Given the description of an element on the screen output the (x, y) to click on. 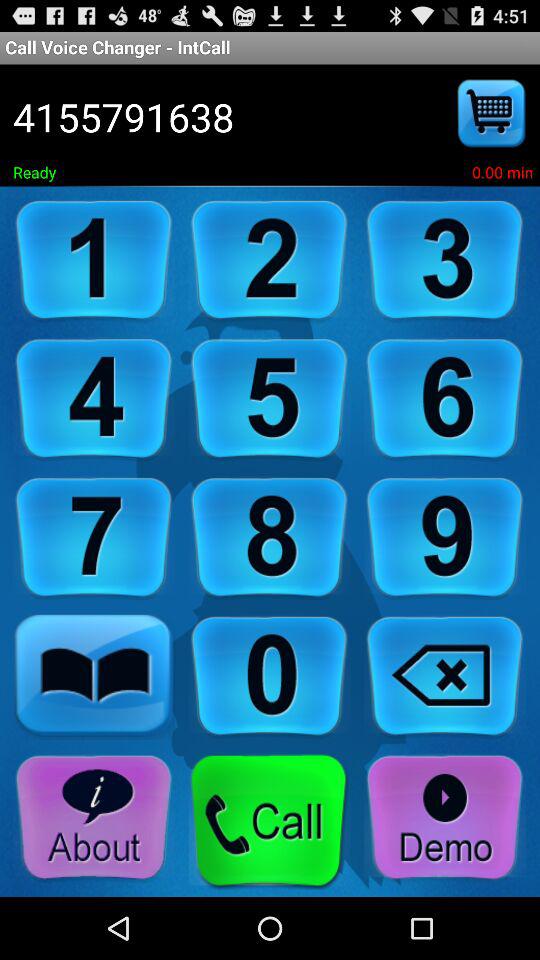
number 5 button (269, 399)
